Given the description of an element on the screen output the (x, y) to click on. 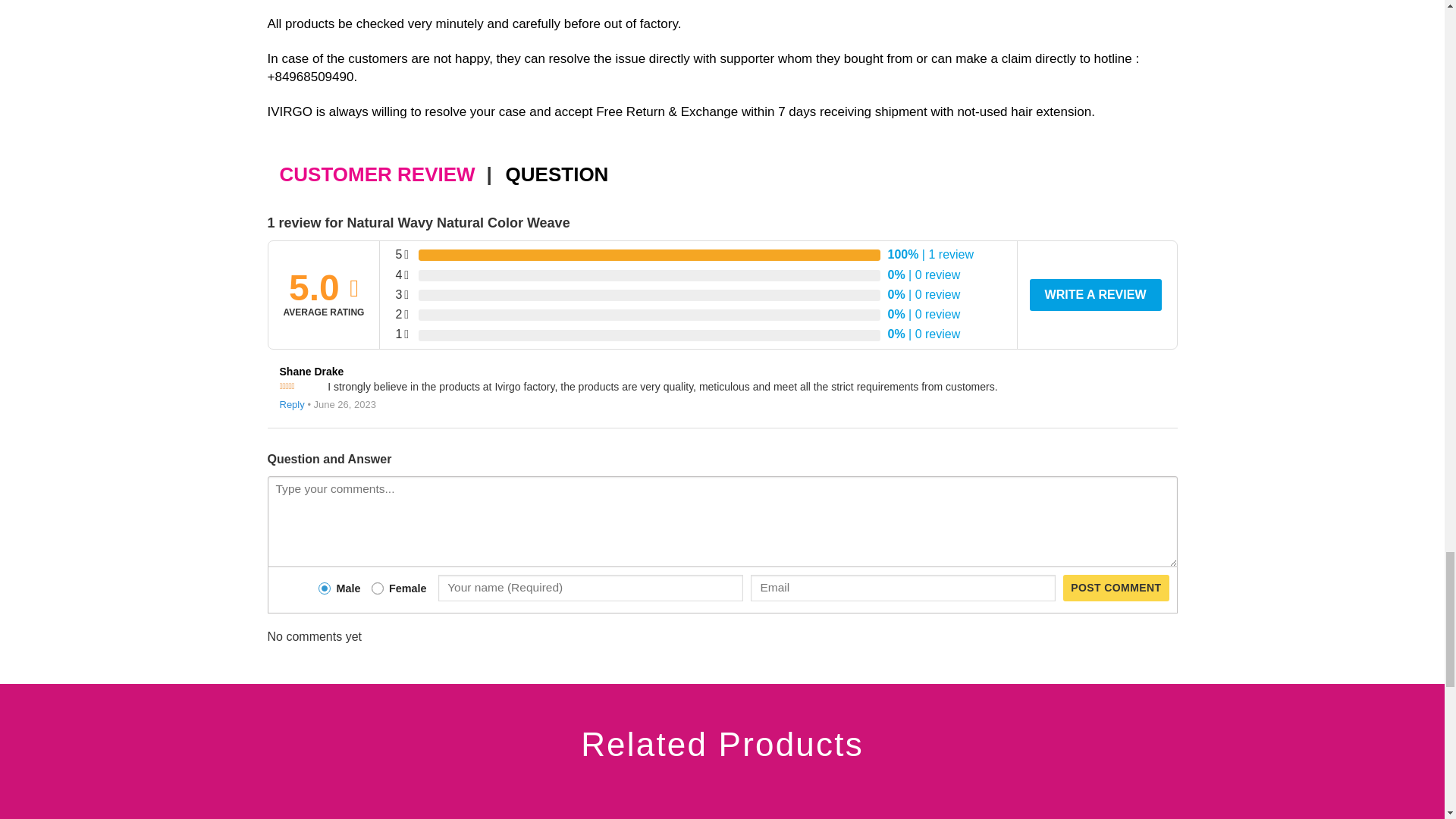
Write a review (1095, 295)
